Given the description of an element on the screen output the (x, y) to click on. 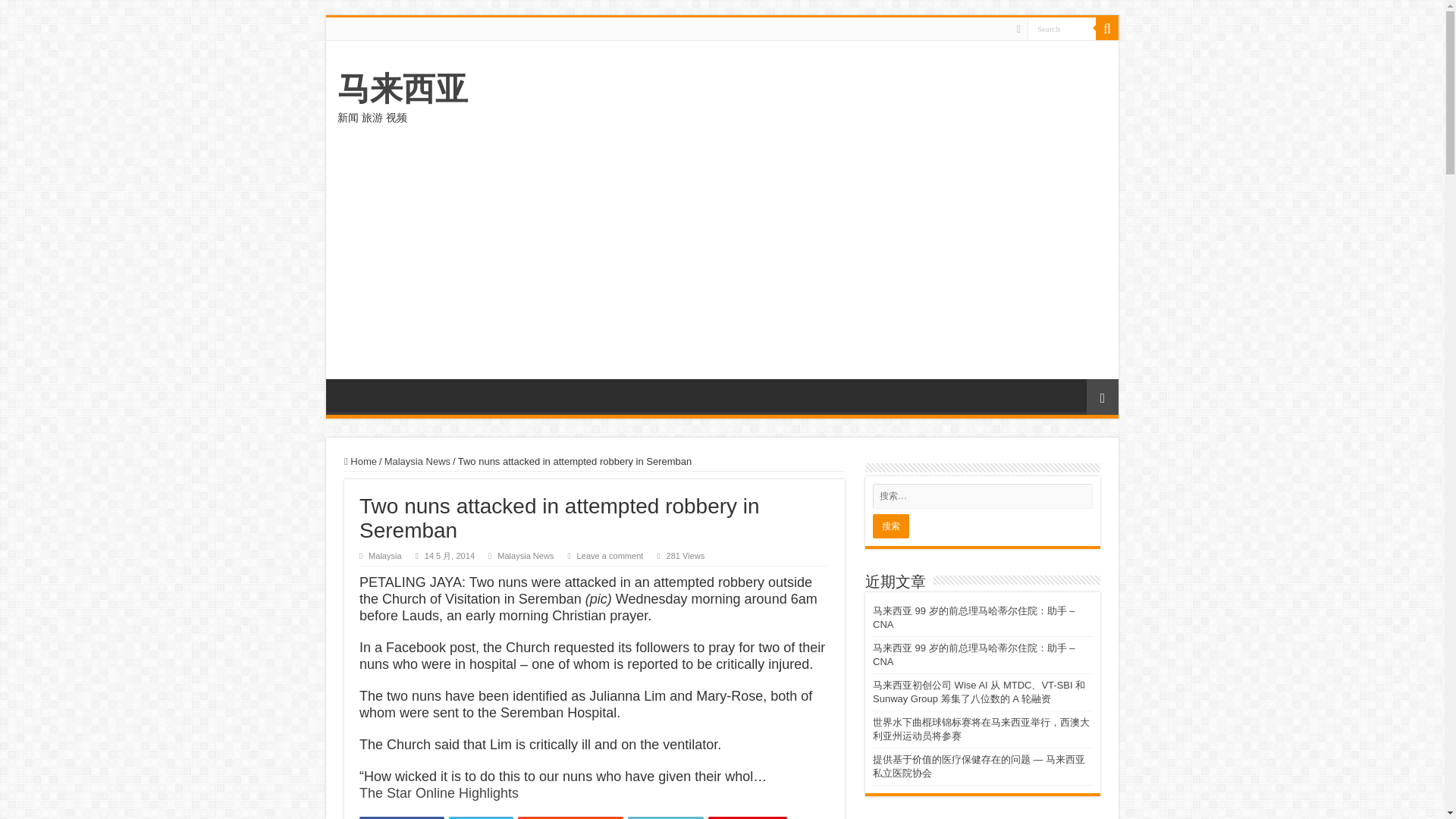
Pinterest (747, 817)
LinkedIn (665, 817)
Search (1061, 28)
Malaysia (384, 555)
Home (360, 460)
Facebook (401, 817)
Search (1061, 28)
Leave a comment (609, 555)
Stumbleupon (570, 817)
Malaysia News (416, 460)
Twitter (480, 817)
Search (1107, 28)
Malaysia News (525, 555)
The Star Online Highlights (438, 792)
